Given the description of an element on the screen output the (x, y) to click on. 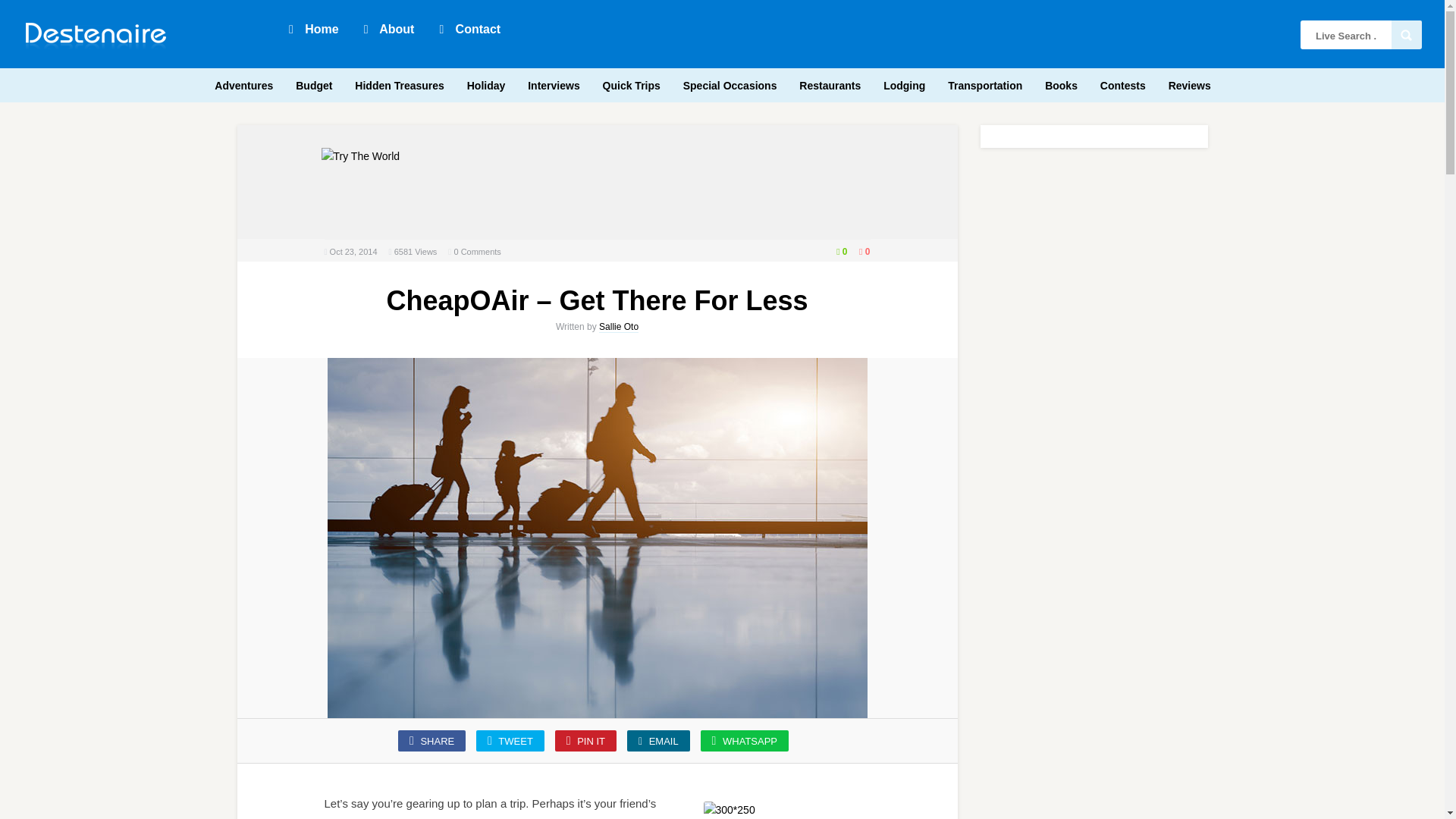
   About (388, 28)
Try The World (360, 156)
Transportation (984, 83)
Hidden Treasures (399, 83)
Quick Trips (631, 83)
0 Comments (476, 251)
Interviews (553, 83)
Contests (1122, 83)
Books (1061, 83)
SHARE (431, 740)
